Given the description of an element on the screen output the (x, y) to click on. 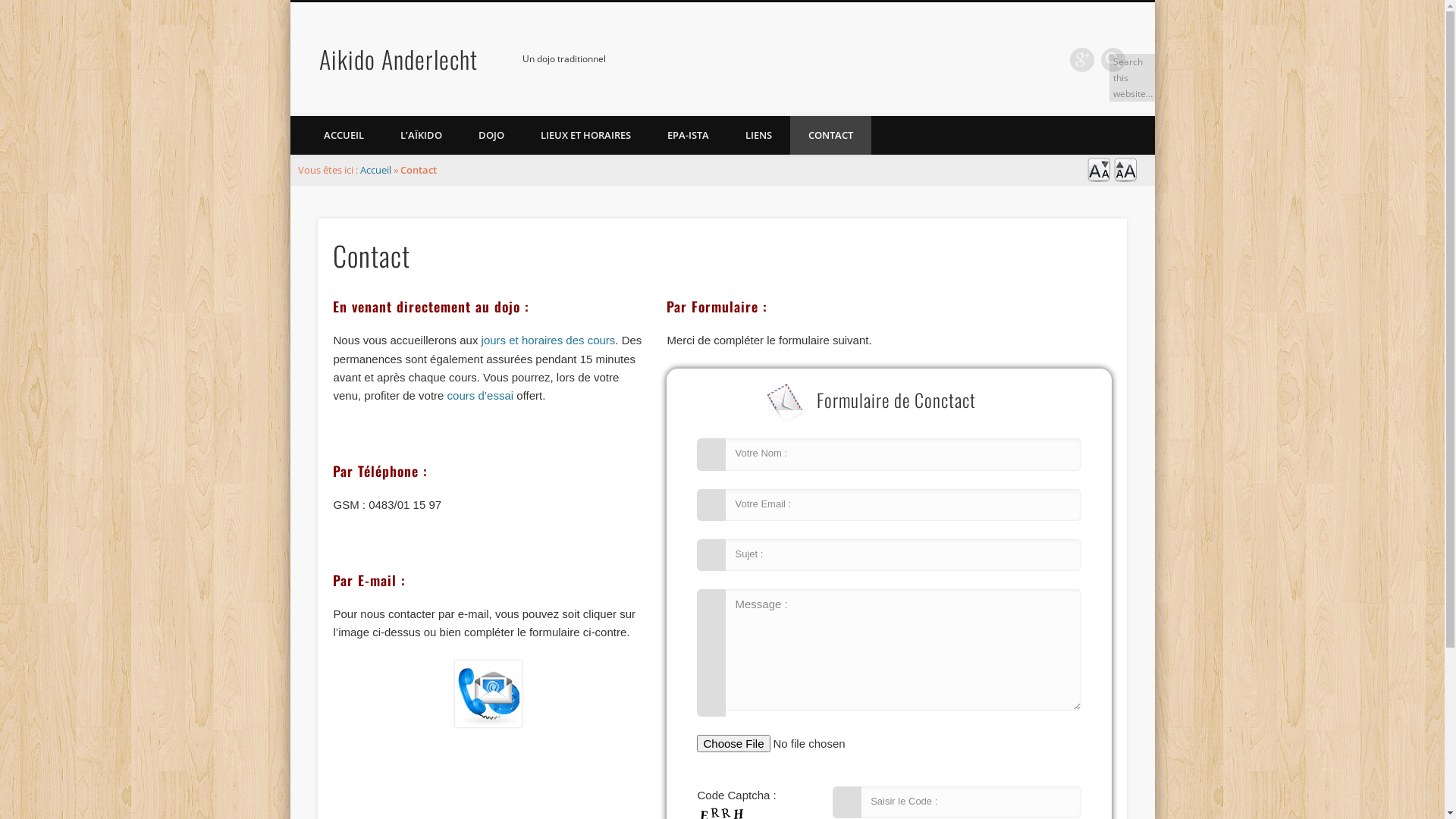
DOJO Element type: text (490, 135)
LIENS Element type: text (757, 135)
Accueil Element type: text (374, 169)
LIEUX ET HORAIRES Element type: text (584, 135)
jours et horaires des cours Element type: text (546, 339)
CONTACT Element type: text (830, 135)
Augmenter la taille du texte Element type: hover (1125, 178)
Search Element type: text (11, 10)
Google+ Element type: text (1082, 59)
ACCUEIL Element type: text (342, 135)
EPA-ISTA Element type: text (688, 135)
Aikido Anderlecht Element type: text (398, 58)
